Given the description of an element on the screen output the (x, y) to click on. 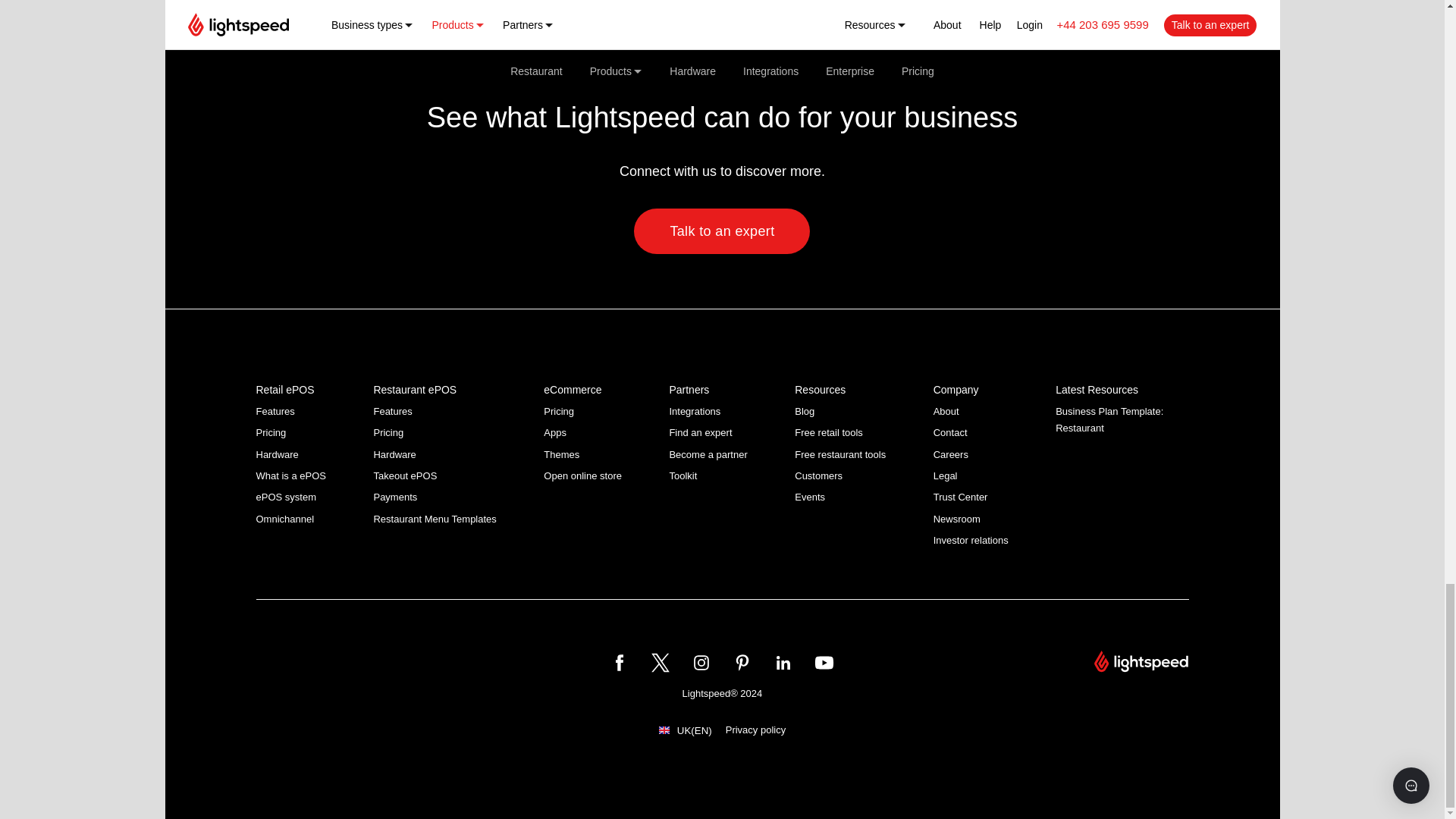
Hardware (277, 454)
Retail ePOS (285, 389)
ePOS system (285, 496)
Features (392, 410)
Features (275, 410)
Hardware (393, 454)
Omnichannel (285, 518)
Talk to an expert (721, 230)
Pricing (387, 432)
Pricing (271, 432)
Restaurant ePOS (414, 389)
What is a ePOS (291, 475)
